Given the description of an element on the screen output the (x, y) to click on. 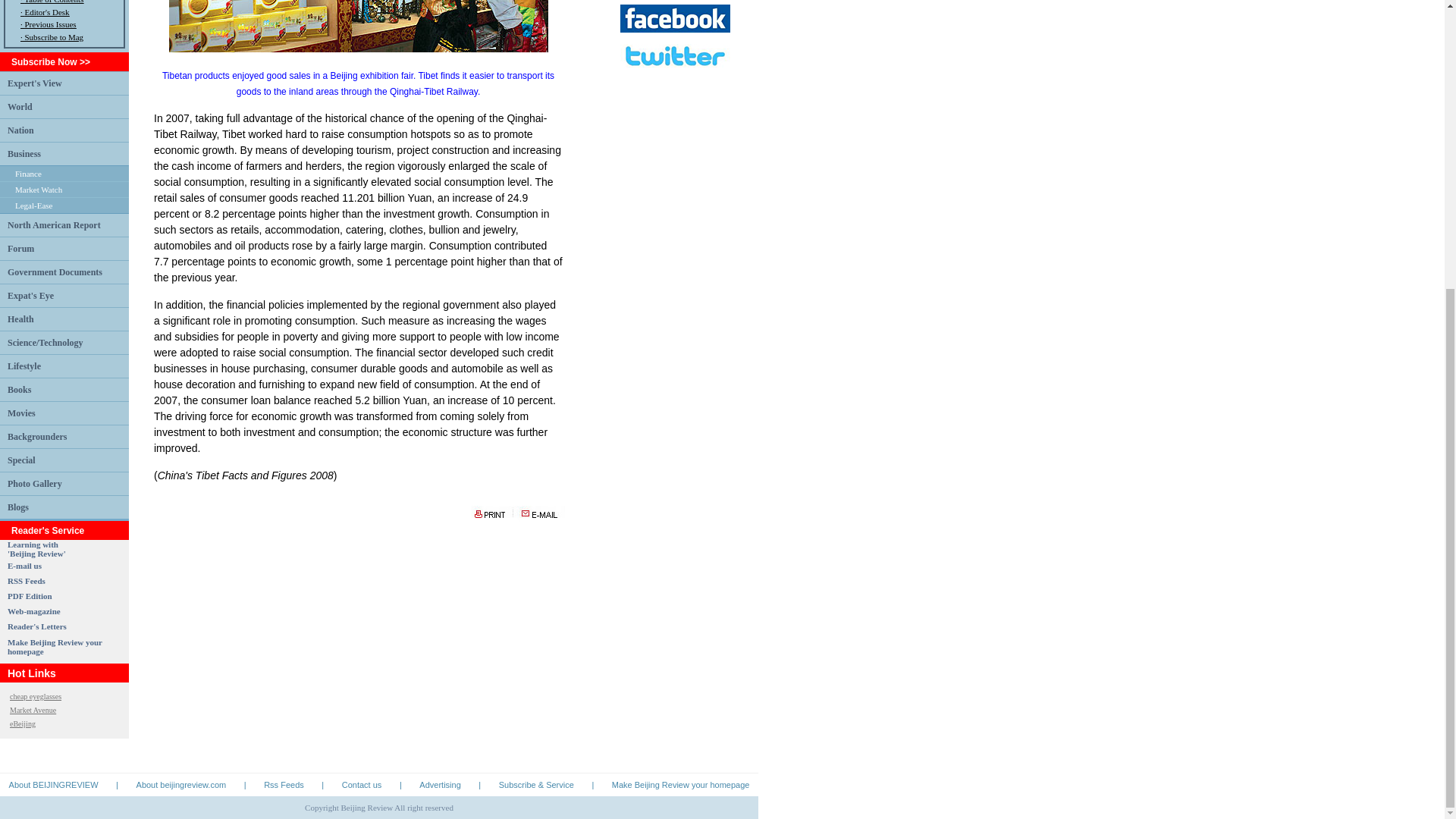
Expert's View (34, 81)
Business (23, 153)
Backgrounders (36, 435)
Movies (20, 412)
Special (20, 460)
North American Report (53, 225)
Finance (28, 173)
Health (20, 318)
PDF Edition (29, 595)
Table of Contents (53, 2)
Legal-Ease (33, 204)
Lifestyle (23, 366)
World (19, 106)
Reader's Letters (36, 625)
Editor's Desk (46, 11)
